Given the description of an element on the screen output the (x, y) to click on. 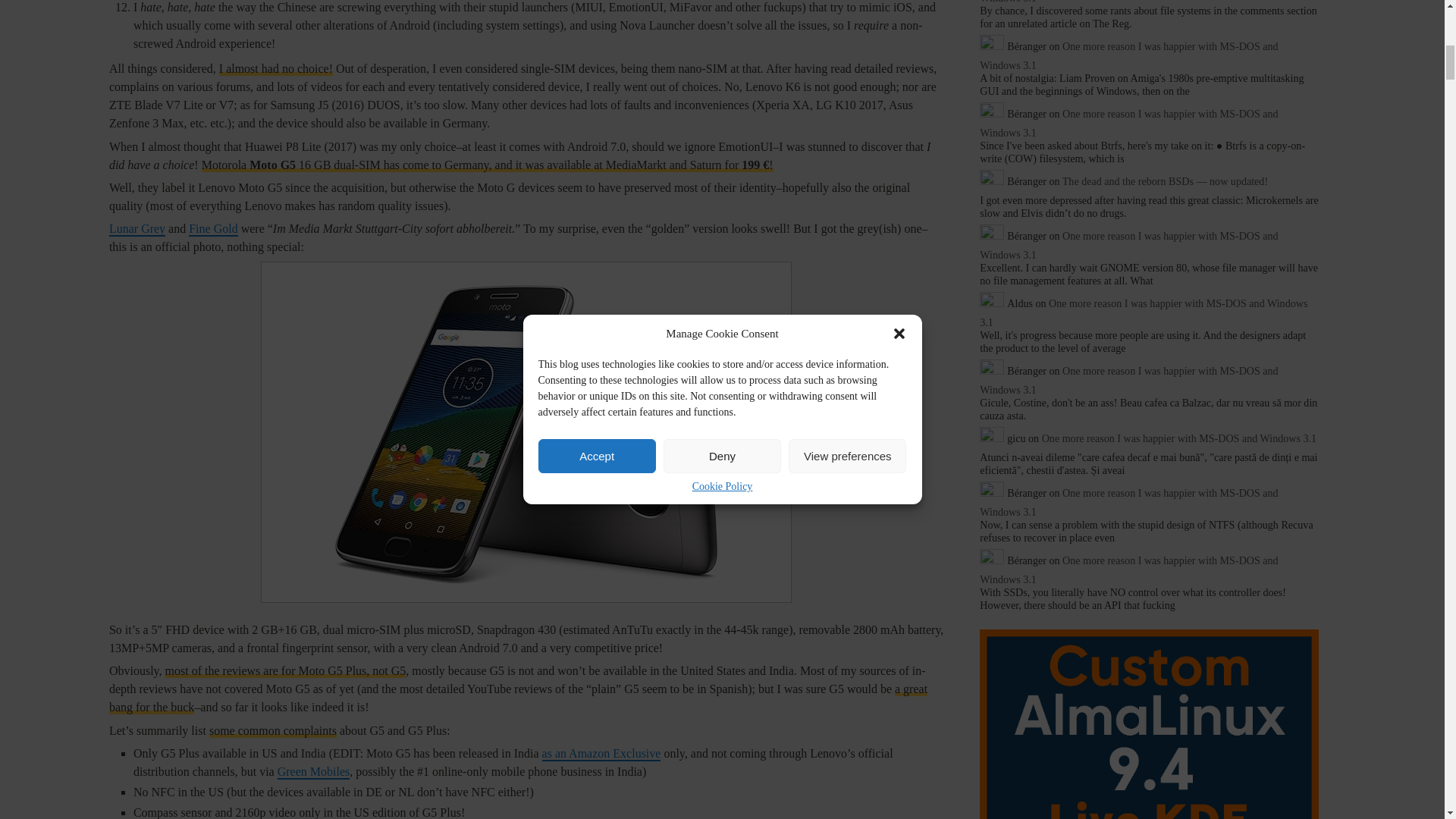
Green Mobiles (314, 771)
Fine Gold (213, 228)
Lunar Grey (137, 228)
as an Amazon Exclusive (601, 753)
